Given the description of an element on the screen output the (x, y) to click on. 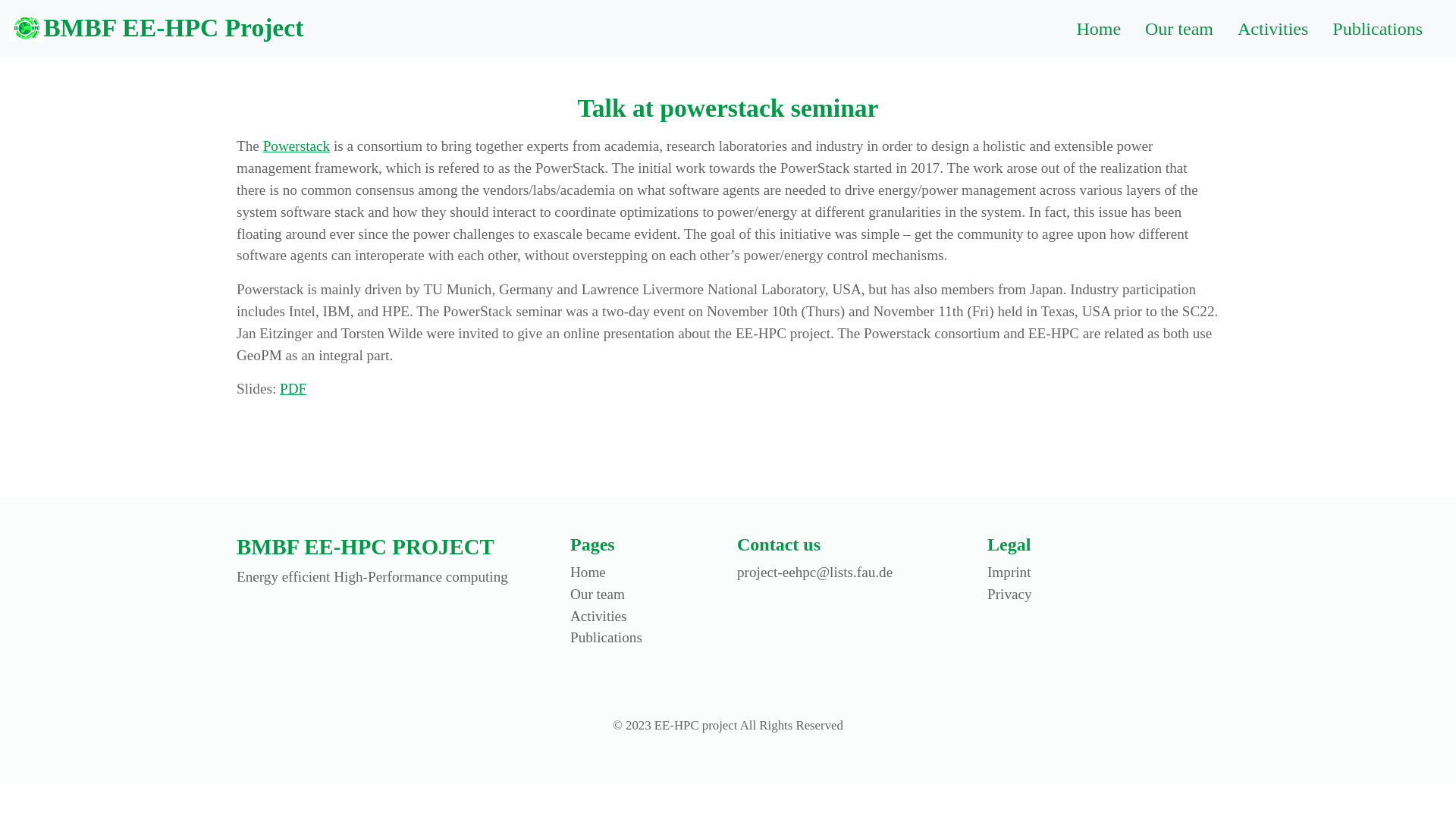
Activities (1272, 28)
Publications (606, 637)
Publications (1377, 28)
Privacy (1009, 593)
Home (587, 571)
Home (1098, 28)
Our team (1178, 28)
Imprint (1008, 571)
Powerstack (296, 145)
BMBF EE-HPC Project (155, 27)
Our team (597, 593)
Activities (598, 616)
PDF (292, 388)
